Given the description of an element on the screen output the (x, y) to click on. 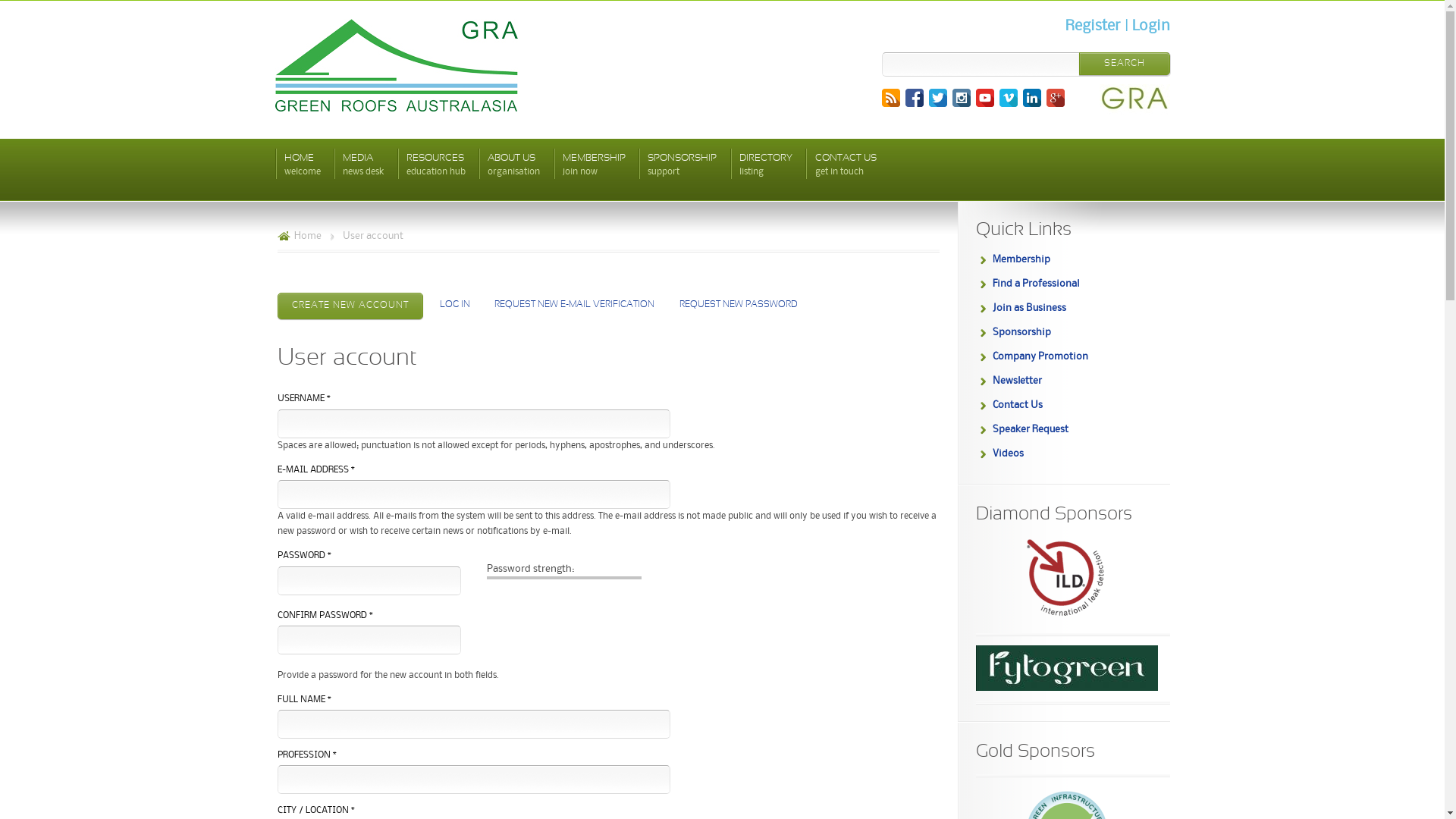
Membership Element type: text (1020, 258)
Vimeo Element type: text (1010, 99)
ABOUT US
organisation Element type: text (513, 167)
Videos Element type: text (1006, 453)
MEMBERSHIP
join now Element type: text (593, 167)
RESOURCES
education hub Element type: text (435, 167)
REQUEST NEW E-MAIL VERIFICATION Element type: text (574, 304)
HOME
welcome Element type: text (301, 167)
Twitter Element type: text (939, 99)
Home Element type: text (299, 235)
Instagram Element type: text (963, 99)
Join as Business Element type: text (1028, 307)
Skip to main content Element type: text (700, 1)
Login Element type: text (1150, 26)
User account Element type: text (372, 235)
Register Element type: text (1092, 26)
CREATE NEW ACCOUNT
(ACTIVE TAB) Element type: text (350, 305)
Find a Professional Element type: text (1034, 283)
Google+ Element type: text (1058, 99)
Sponsorship Element type: text (1020, 331)
DIRECTORY
listing Element type: text (765, 167)
RSS Element type: text (892, 99)
Company Promotion Element type: text (1039, 355)
Enter the terms you wish to search for. Element type: hover (1025, 64)
CONTACT US
get in touch Element type: text (844, 167)
Green Roofs Australasia Element type: hover (395, 64)
Newsletter Element type: text (1016, 380)
Speaker Request Element type: text (1029, 428)
Green Roofs Australasia Element type: hover (397, 107)
YouTube Element type: text (986, 99)
LinkedIn Element type: text (1033, 99)
MEDIA
news desk Element type: text (362, 167)
REQUEST NEW PASSWORD Element type: text (738, 304)
Facebook Element type: text (916, 99)
SPONSORSHIP
support Element type: text (681, 167)
Search Element type: text (1123, 63)
LOG IN Element type: text (454, 304)
Contact Us Element type: text (1016, 404)
